Given the description of an element on the screen output the (x, y) to click on. 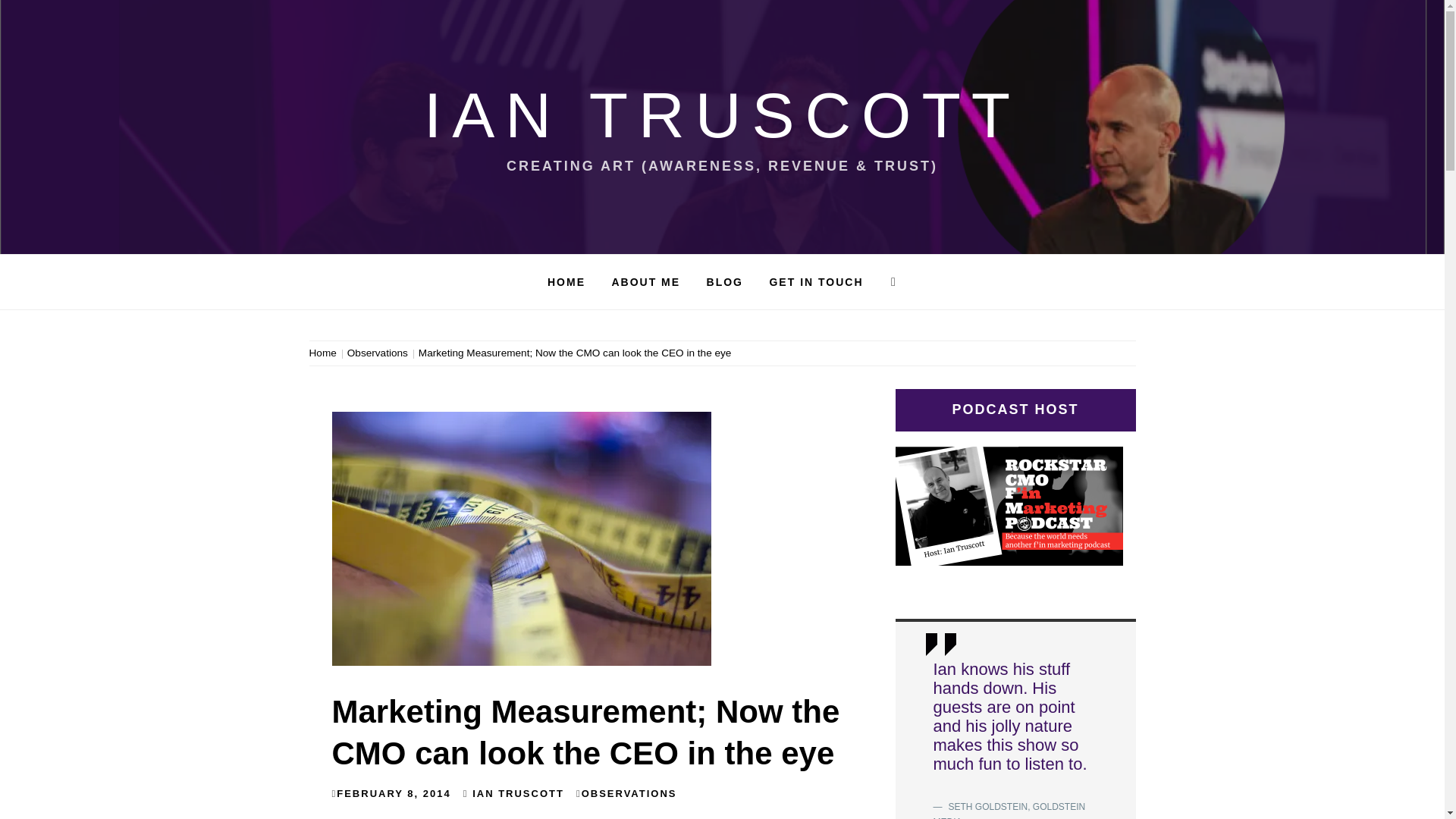
Search (646, 37)
IAN TRUSCOTT (721, 114)
GET IN TOUCH (816, 281)
Observations (377, 352)
IAN TRUSCOTT (517, 793)
ABOUT ME (645, 281)
BLOG (724, 281)
HOME (565, 281)
OBSERVATIONS (628, 793)
FEBRUARY 8, 2014 (393, 793)
Home (325, 352)
